Given the description of an element on the screen output the (x, y) to click on. 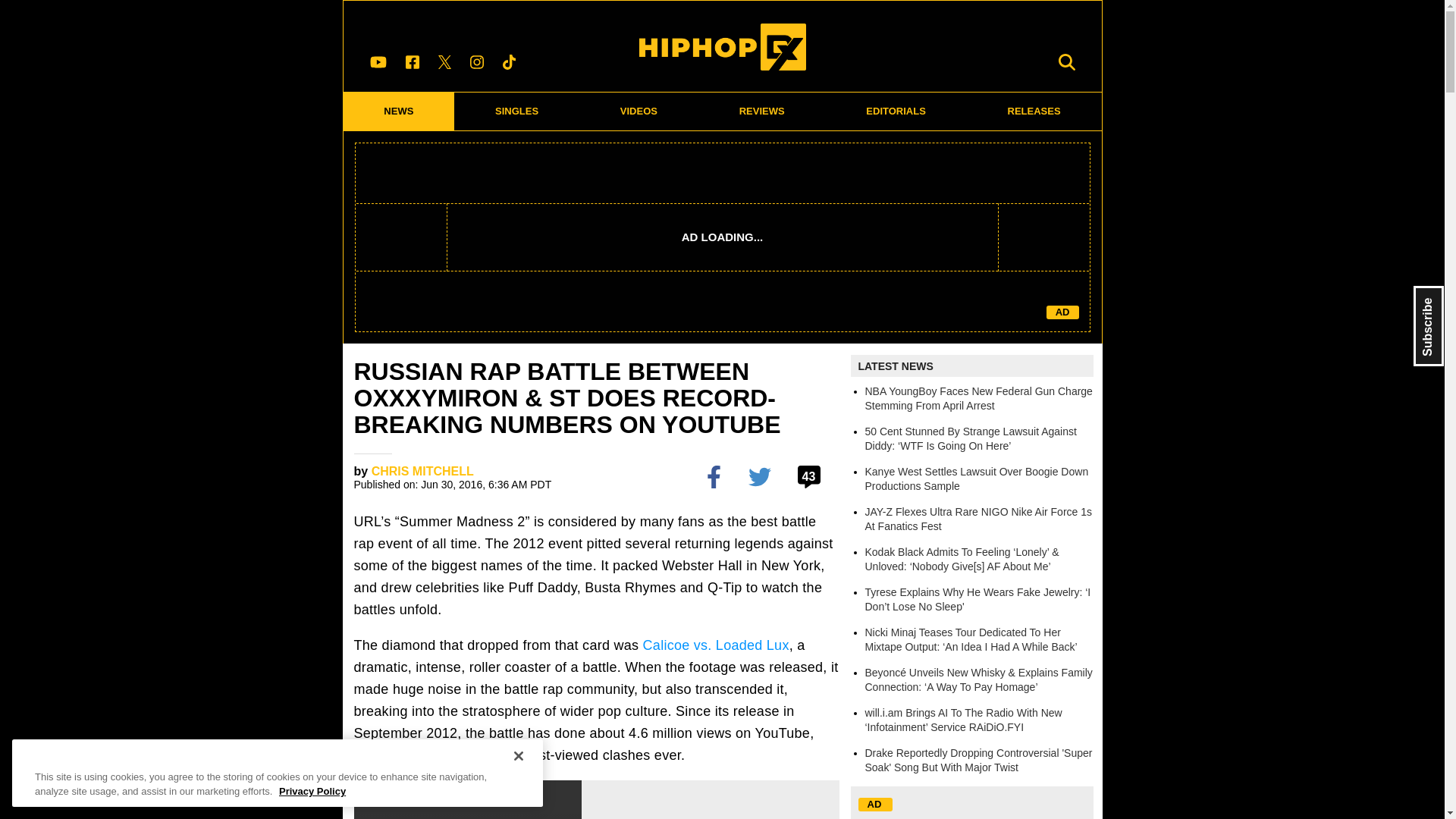
RELEASES (1034, 111)
SINGLES (516, 111)
Calicoe vs. Loaded Lux (716, 645)
NEWS (398, 111)
43 (810, 477)
VIDEOS (638, 111)
CHRIS MITCHELL (422, 471)
EDITORIALS (895, 111)
REVIEWS (761, 111)
